Given the description of an element on the screen output the (x, y) to click on. 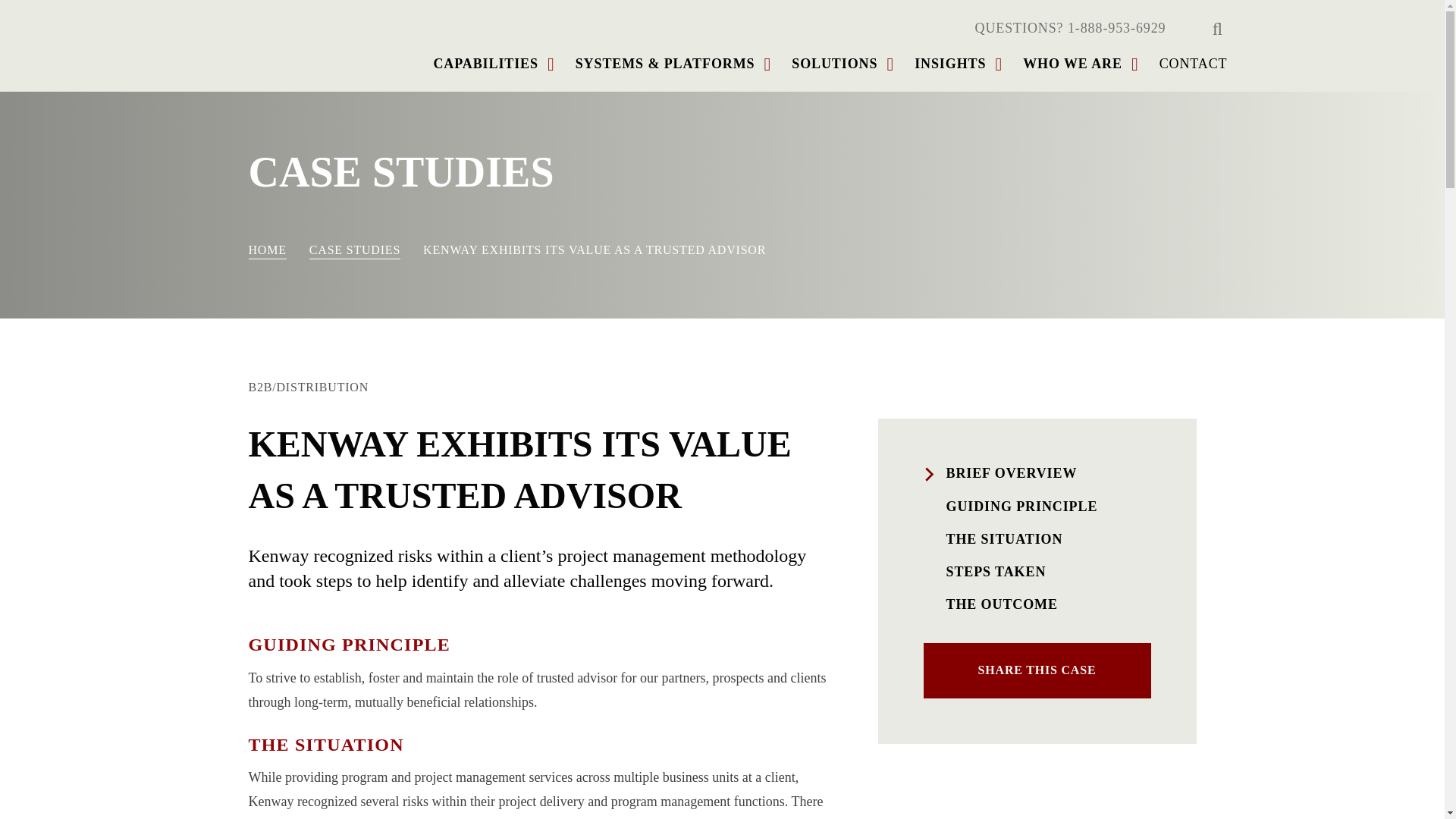
1-888-953-6929 (1116, 28)
BRIEF OVERVIEW (1037, 473)
Capabilities (485, 63)
INSIGHTS (949, 63)
STEPS TAKEN (1037, 571)
SOLUTIONS (834, 63)
CONTACT (1192, 63)
THE OUTCOME (1037, 604)
Solutions (834, 63)
Insights (949, 63)
SHARE THIS CASE (1037, 669)
HOME (267, 251)
WHO WE ARE (1072, 63)
CAPABILITIES (485, 63)
GUIDING PRINCIPLE (1037, 506)
